Given the description of an element on the screen output the (x, y) to click on. 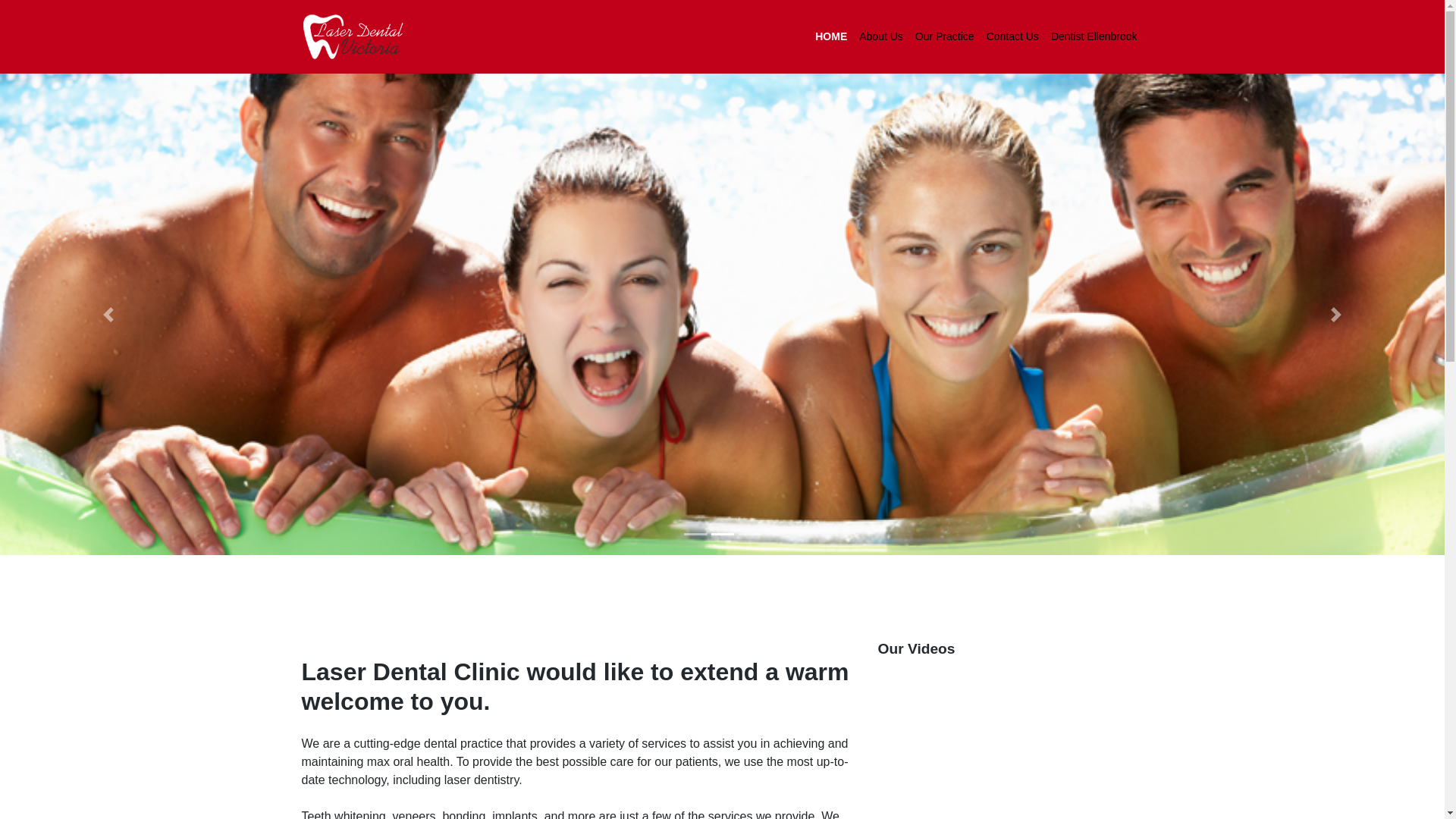
Contact Us Element type: text (1012, 36)
Dentist Ellenbrook Element type: text (1093, 36)
Next Element type: text (1335, 362)
Our Practice Element type: text (944, 36)
HOME Element type: text (831, 36)
Previous Element type: text (108, 362)
About Us Element type: text (881, 36)
